Given the description of an element on the screen output the (x, y) to click on. 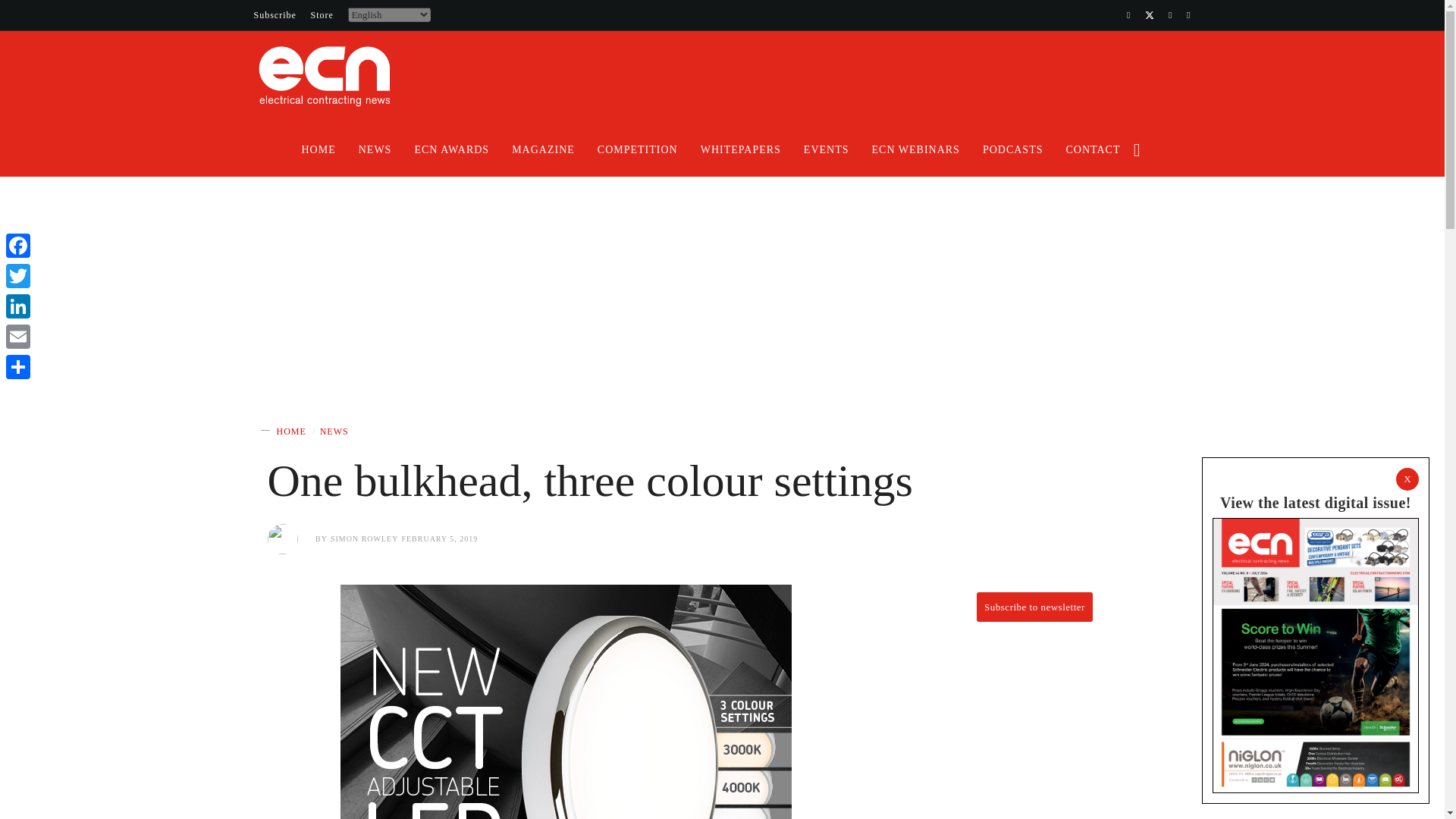
3rd party ad content (915, 83)
3rd party ad content (1034, 739)
3rd party ad content (721, 231)
3rd party ad content (721, 333)
